Given the description of an element on the screen output the (x, y) to click on. 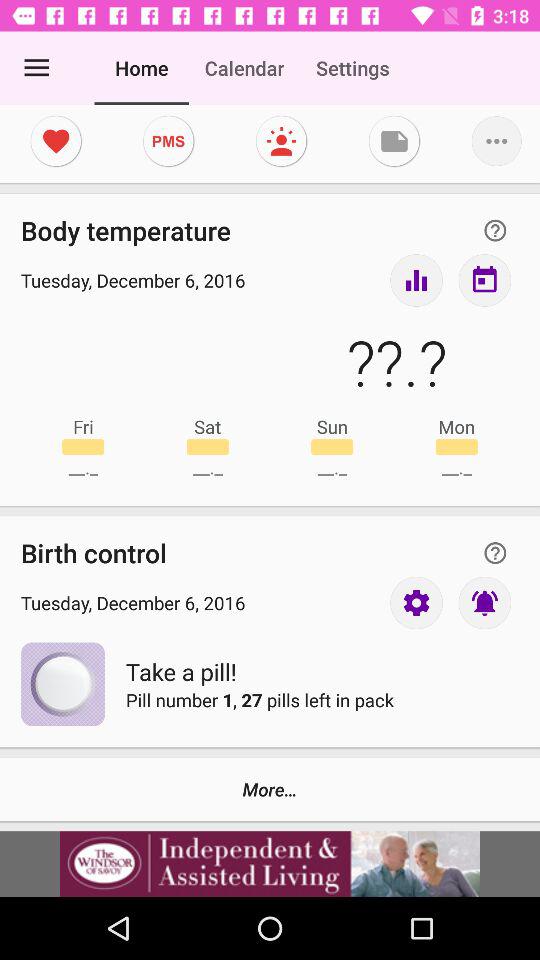
help button (495, 230)
